Given the description of an element on the screen output the (x, y) to click on. 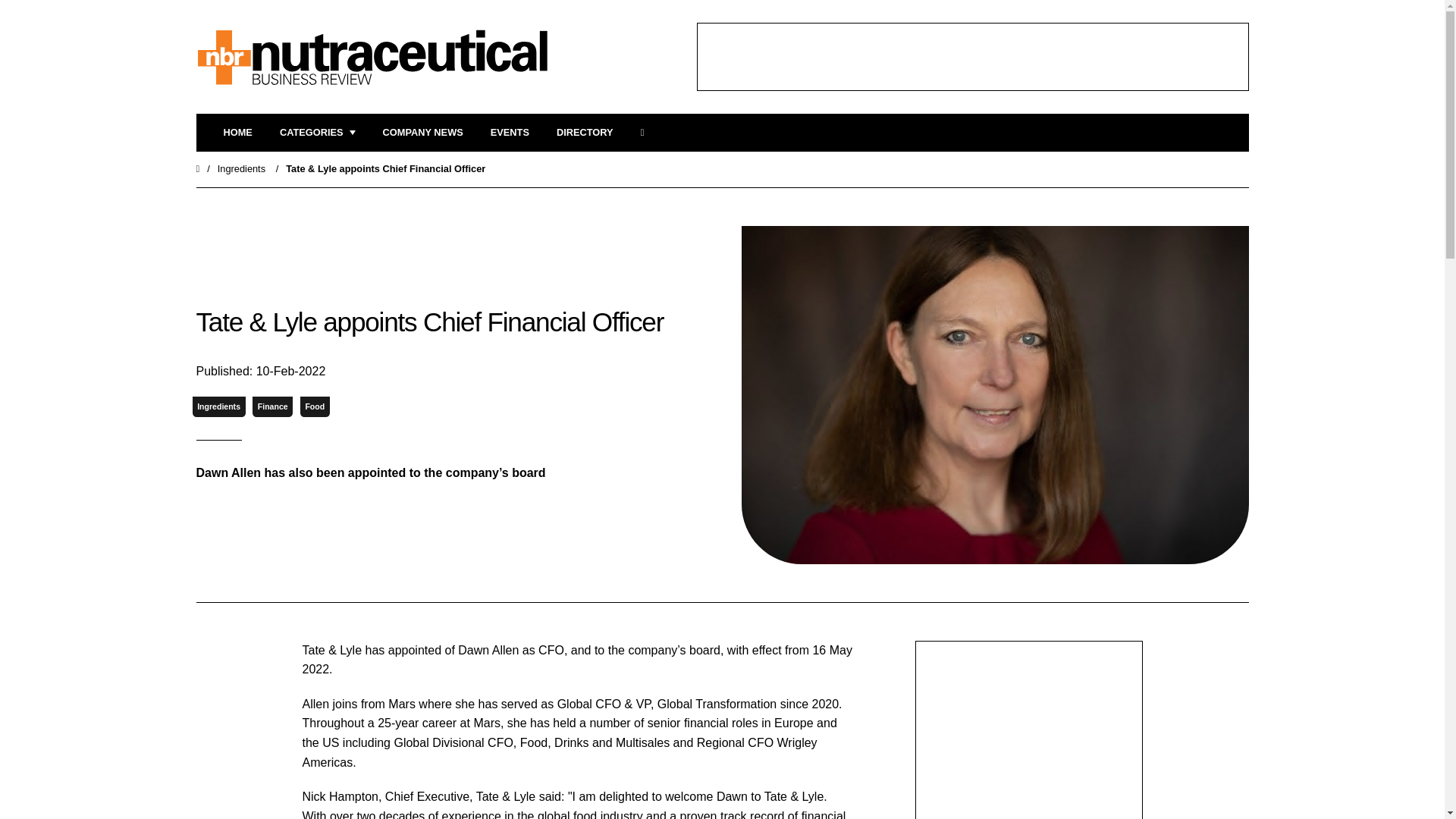
HOME (236, 133)
DIRECTORY (584, 133)
Food (314, 406)
Finance (271, 406)
CATEGORIES (317, 133)
Ingredients (240, 168)
Directory (584, 133)
SEARCH (646, 133)
Ingredients (219, 406)
EVENTS (509, 133)
